Given the description of an element on the screen output the (x, y) to click on. 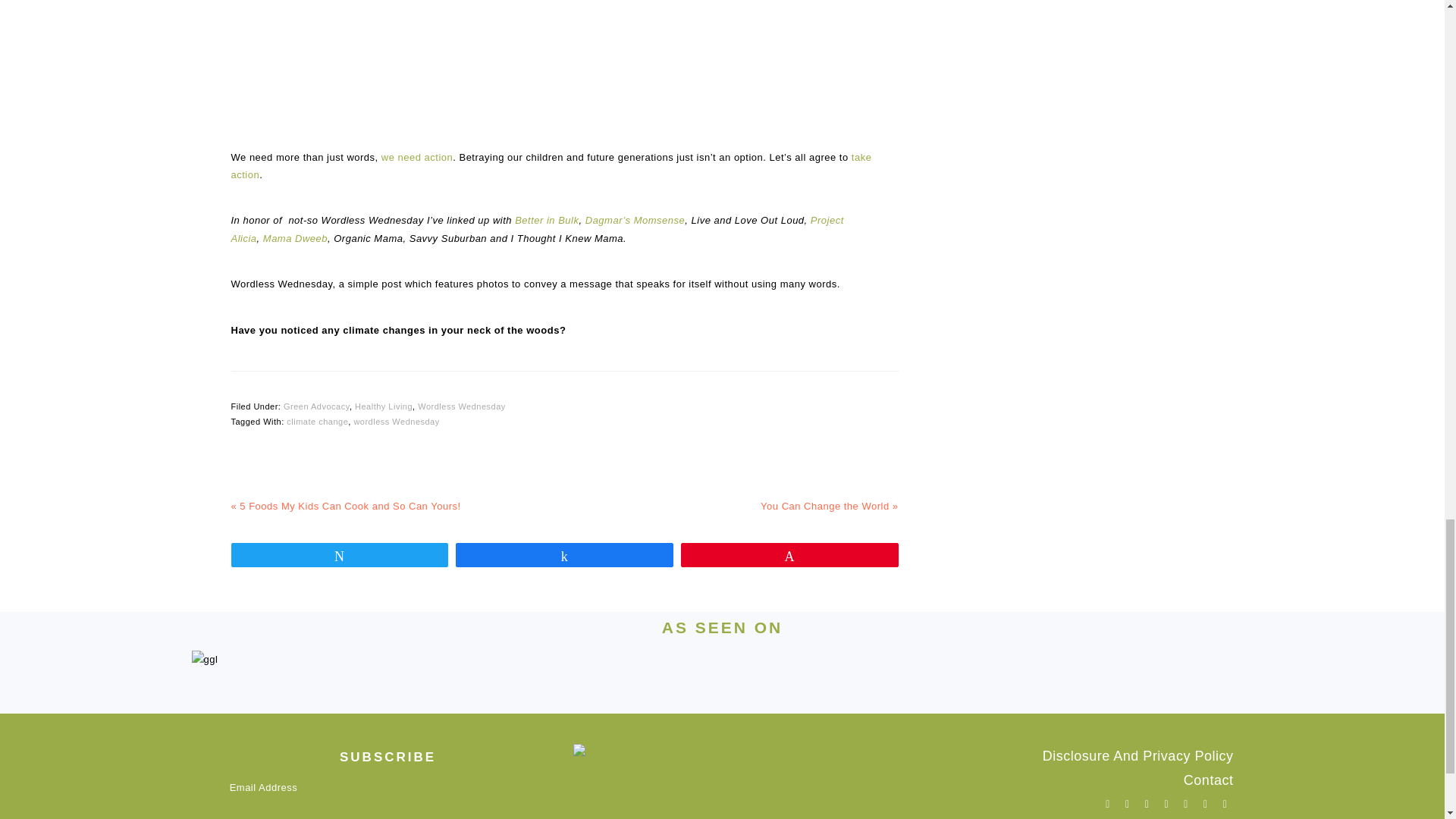
take action (550, 165)
Mama Dweeb (295, 238)
Groovy Green Livin climate change (564, 60)
Project Alicia (536, 228)
we need action (416, 156)
Better in Bulk (546, 220)
